Given the description of an element on the screen output the (x, y) to click on. 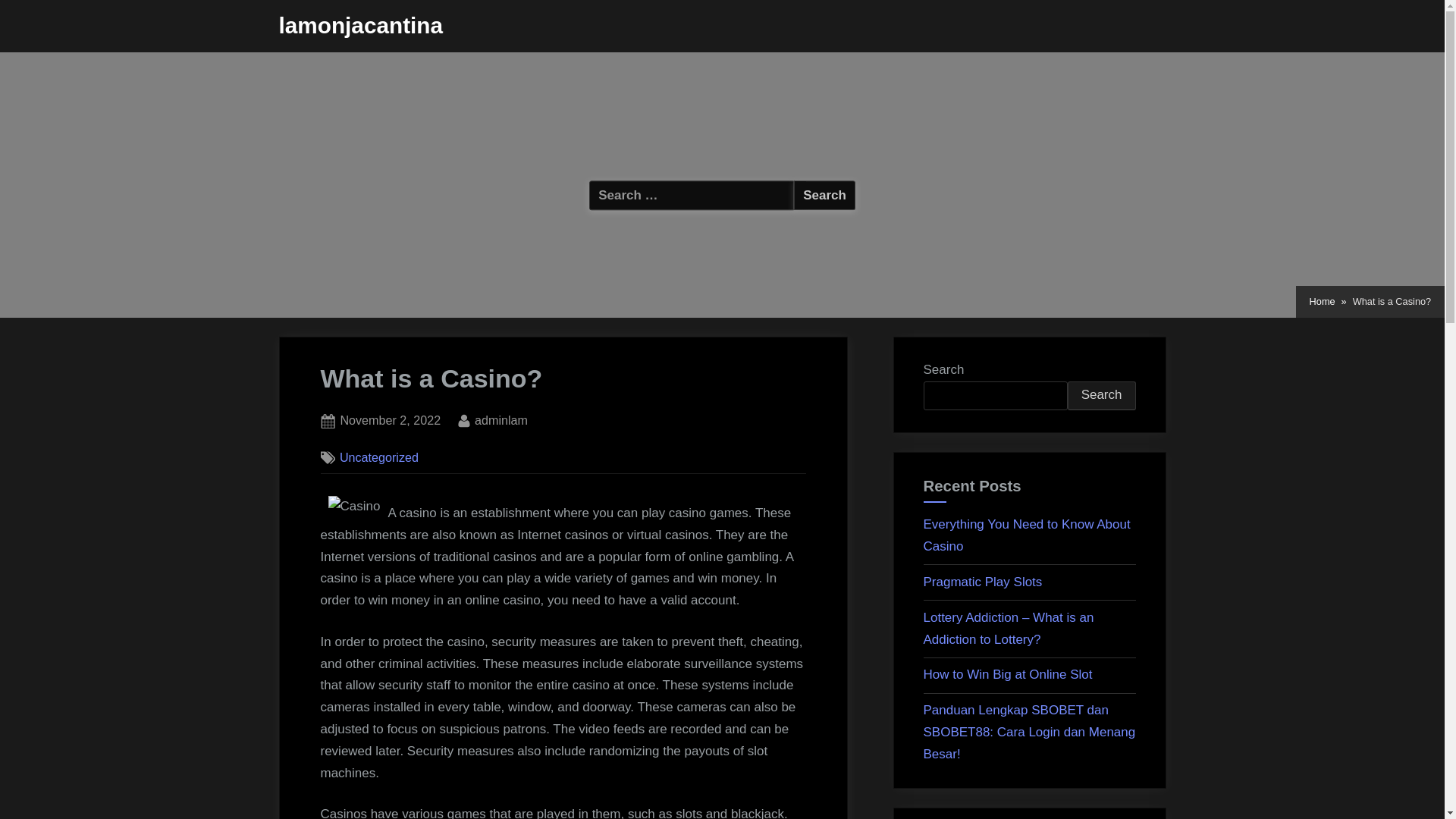
How to Win Big at Online Slot (1008, 674)
Everything You Need to Know About Casino (1027, 534)
Home (1321, 301)
lamonjacantina (361, 25)
Uncategorized (379, 457)
Search (390, 420)
Search (1101, 395)
Search (824, 194)
Pragmatic Play Slots (824, 194)
